Given the description of an element on the screen output the (x, y) to click on. 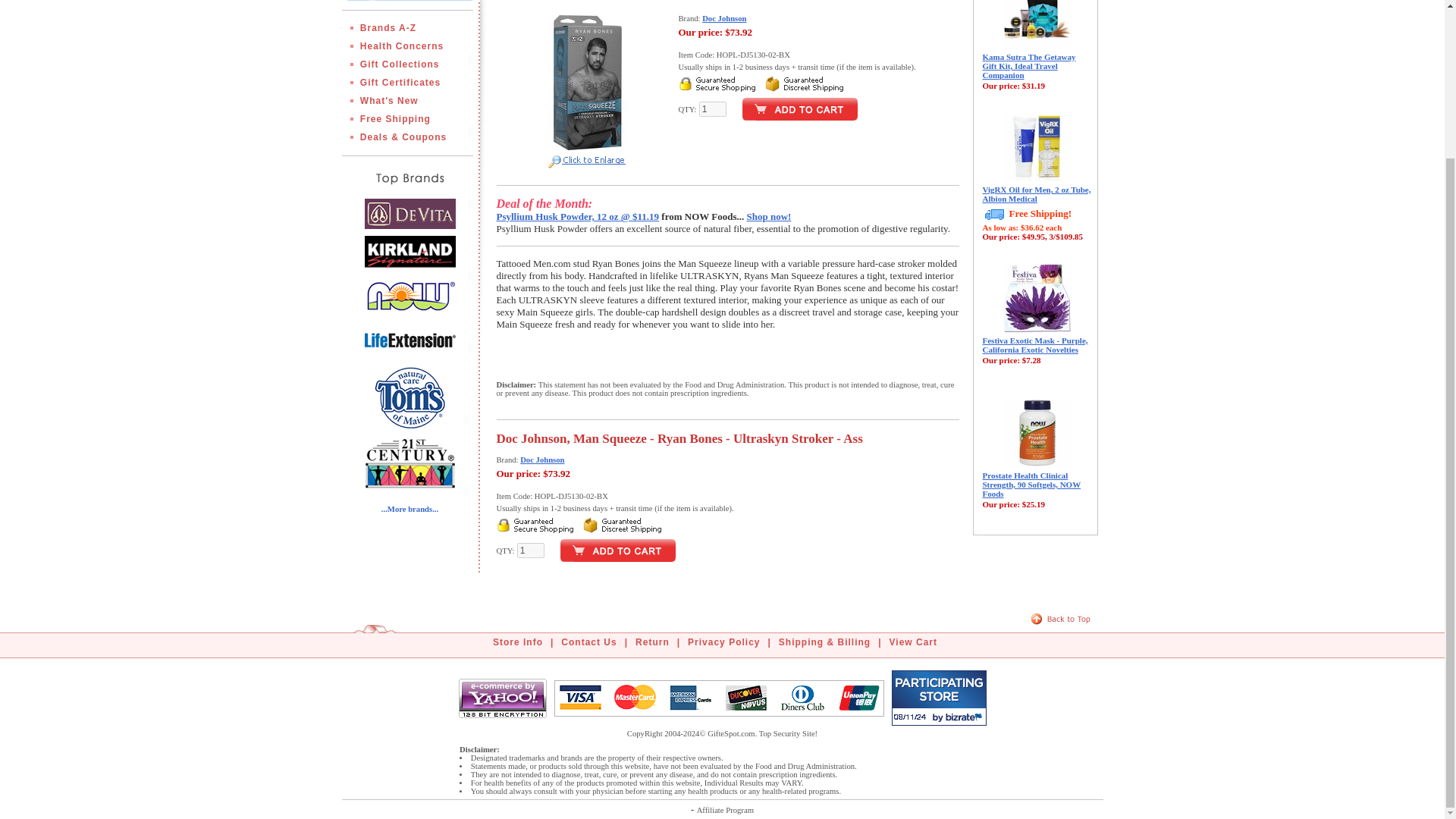
Doc Johnson (723, 18)
Brands A-Z (394, 27)
Free Shipping (401, 118)
1 (530, 549)
...More brands... (409, 509)
Gift Collections (406, 63)
1 (712, 109)
Health Concerns (407, 45)
What's New (395, 100)
Shop now! (769, 215)
